Given the description of an element on the screen output the (x, y) to click on. 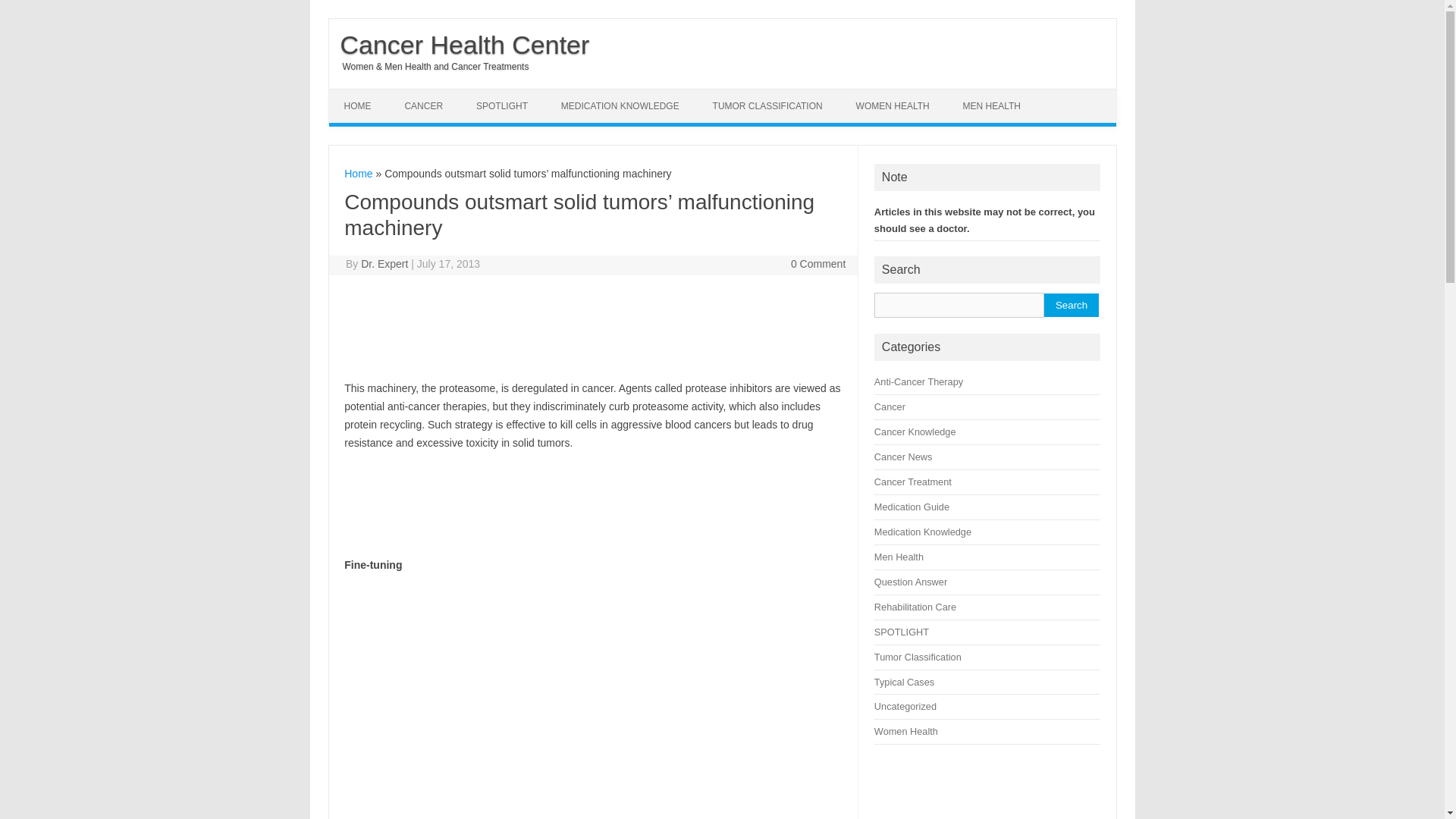
Skip to content (363, 93)
Search (1070, 304)
Advertisement (419, 324)
Cancer (890, 406)
CANCER (423, 105)
Advertisement (470, 694)
Anti-Cancer Therapy (918, 381)
SPOTLIGHT (502, 105)
TUMOR CLASSIFICATION (767, 105)
HOME (358, 105)
Home (357, 173)
Search (1070, 304)
Cancer Treatment (913, 481)
Cancer Knowledge (915, 431)
0 Comment (817, 263)
